Given the description of an element on the screen output the (x, y) to click on. 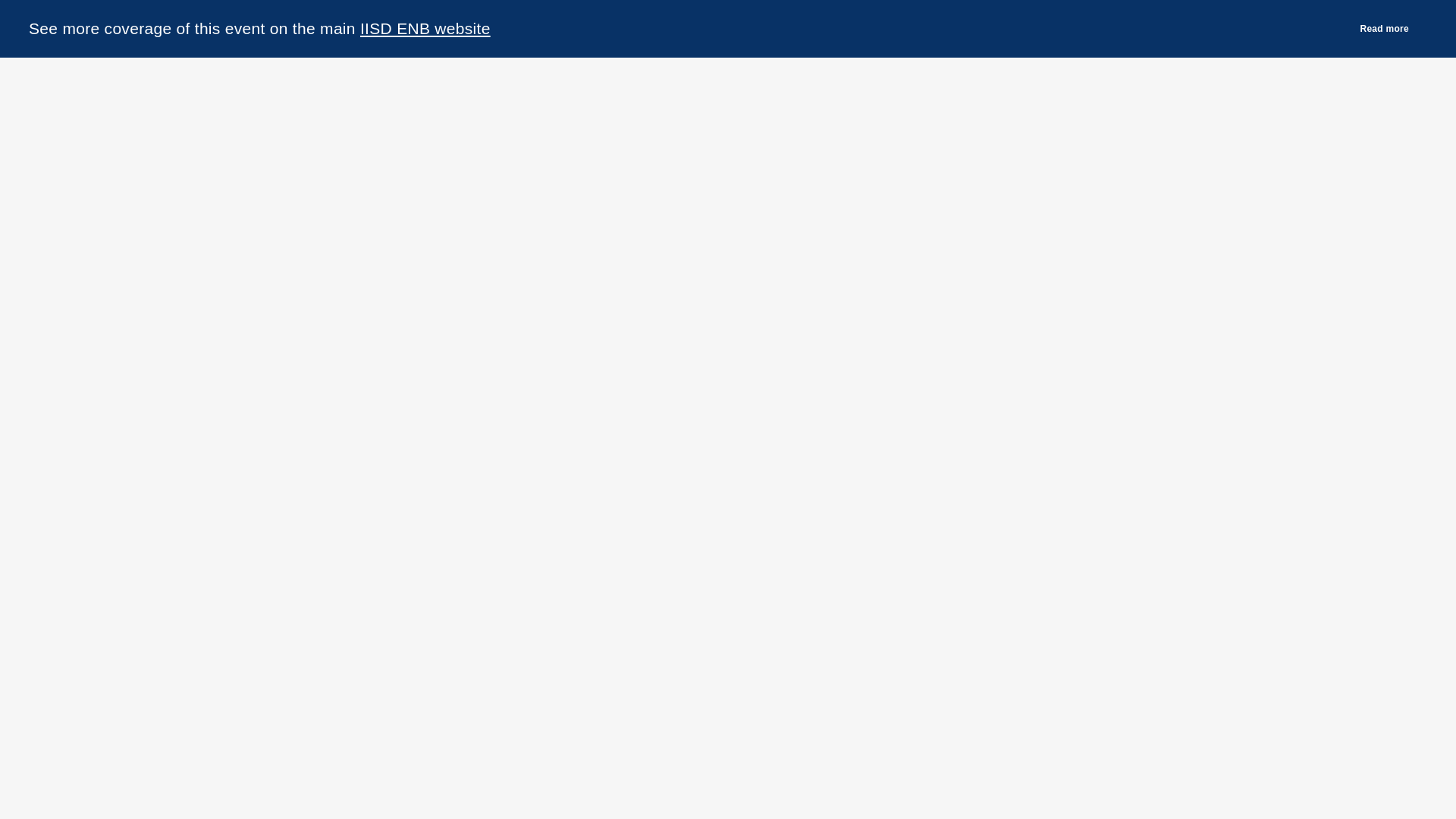
IISD ENB website (424, 27)
Read more (1392, 28)
